Given the description of an element on the screen output the (x, y) to click on. 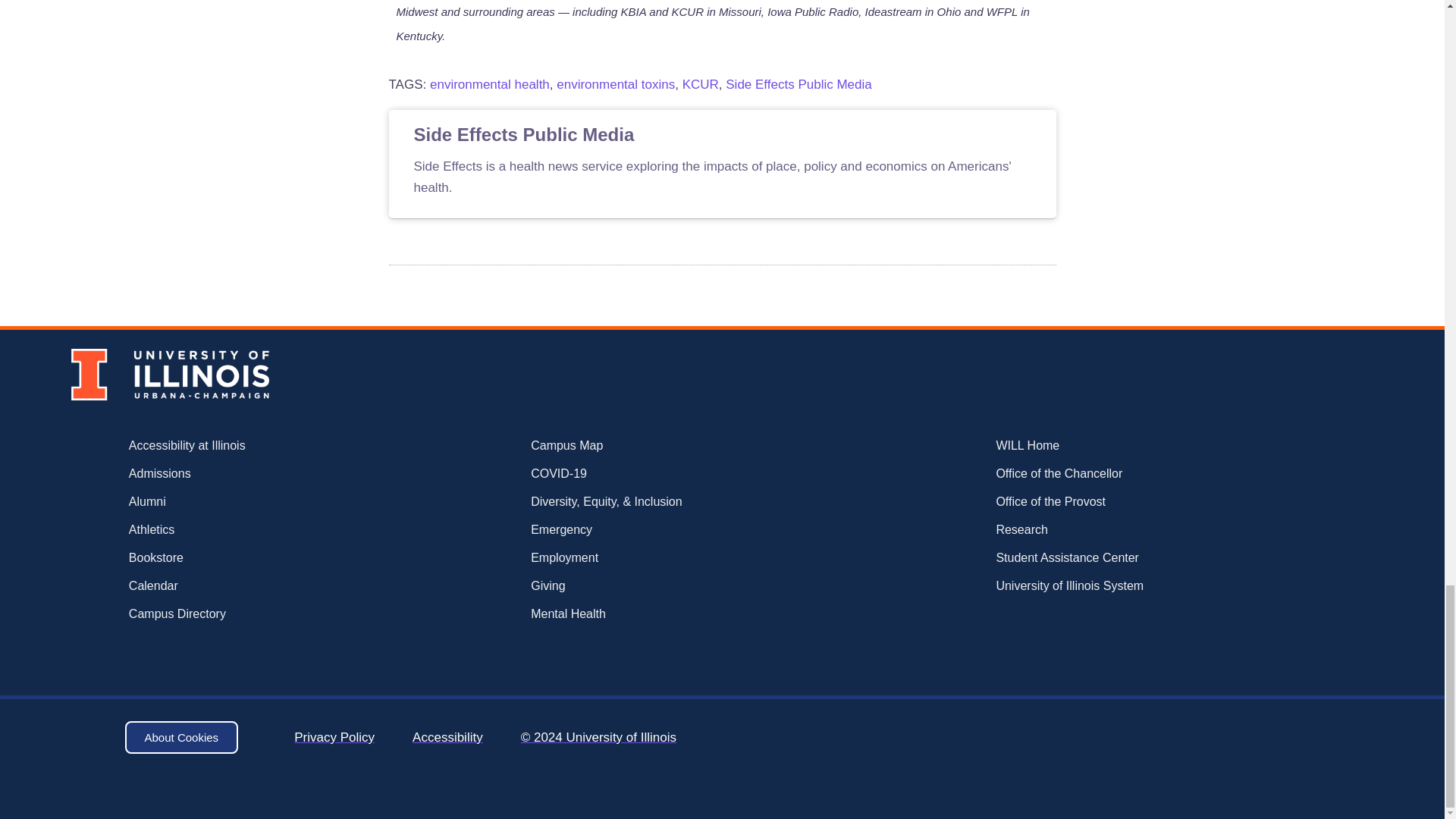
Alumni (235, 502)
Side Effects Public Media (797, 83)
KCUR (700, 83)
Bookstore (235, 557)
Athletics (235, 529)
Campus Map (669, 445)
Calendar (235, 586)
Campus Directory (235, 614)
Admissions (235, 474)
Accessibility at Illinois (235, 445)
